Given the description of an element on the screen output the (x, y) to click on. 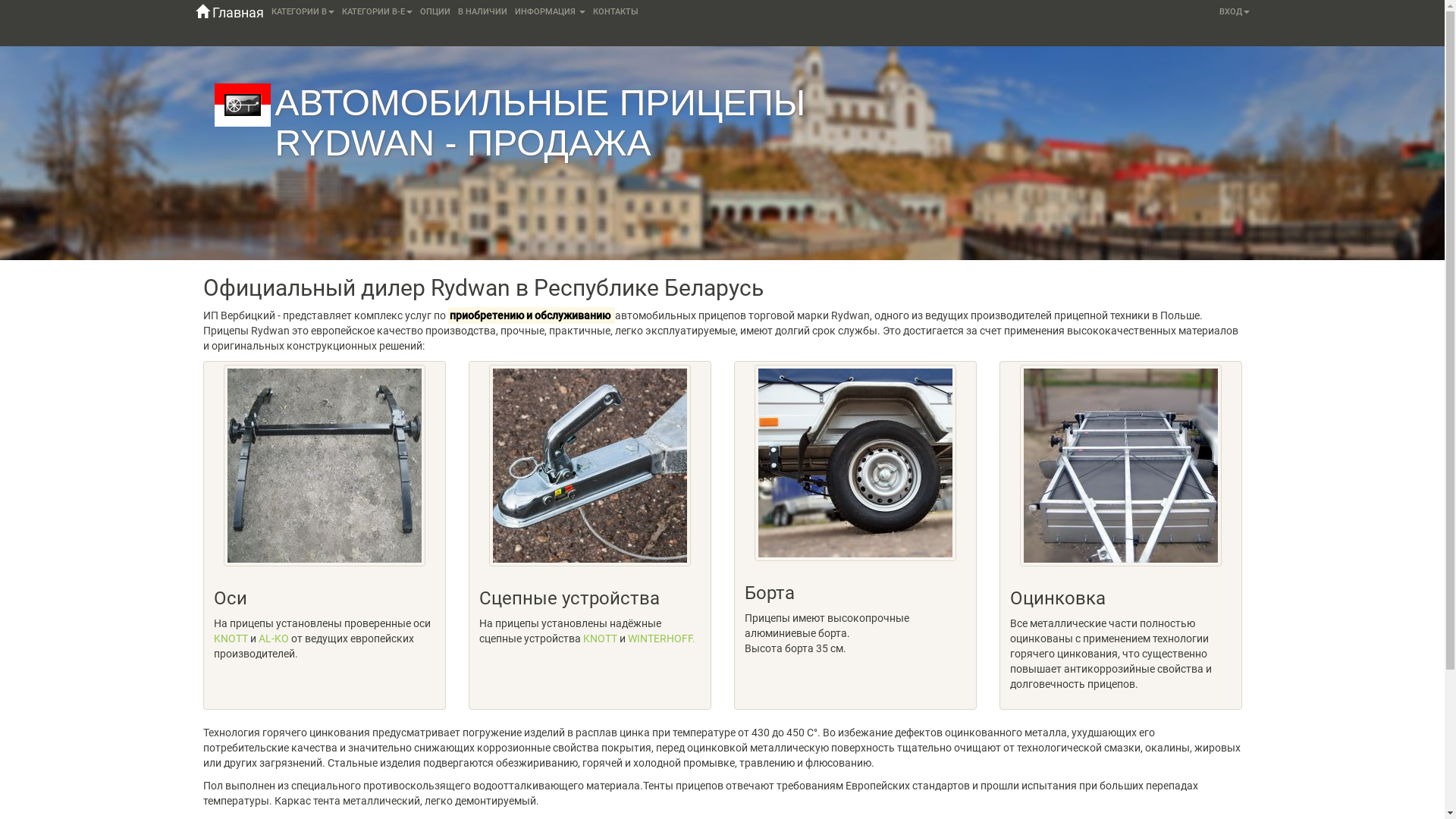
AL-KO Element type: text (272, 638)
WINTERHOFF. Element type: text (661, 638)
KNOTT Element type: text (230, 638)
KNOTT Element type: text (600, 638)
